Given the description of an element on the screen output the (x, y) to click on. 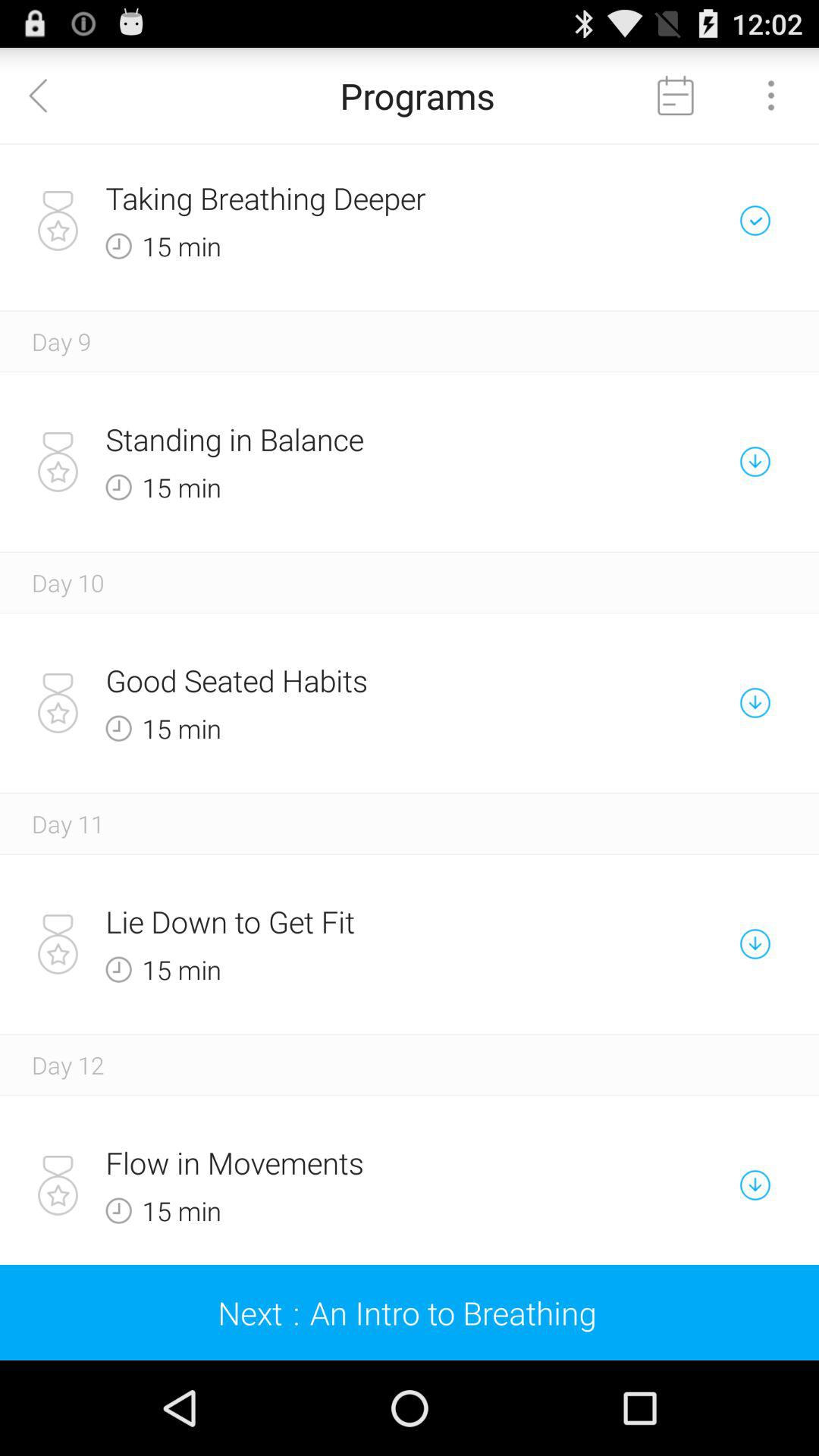
go to previous page (47, 95)
